Given the description of an element on the screen output the (x, y) to click on. 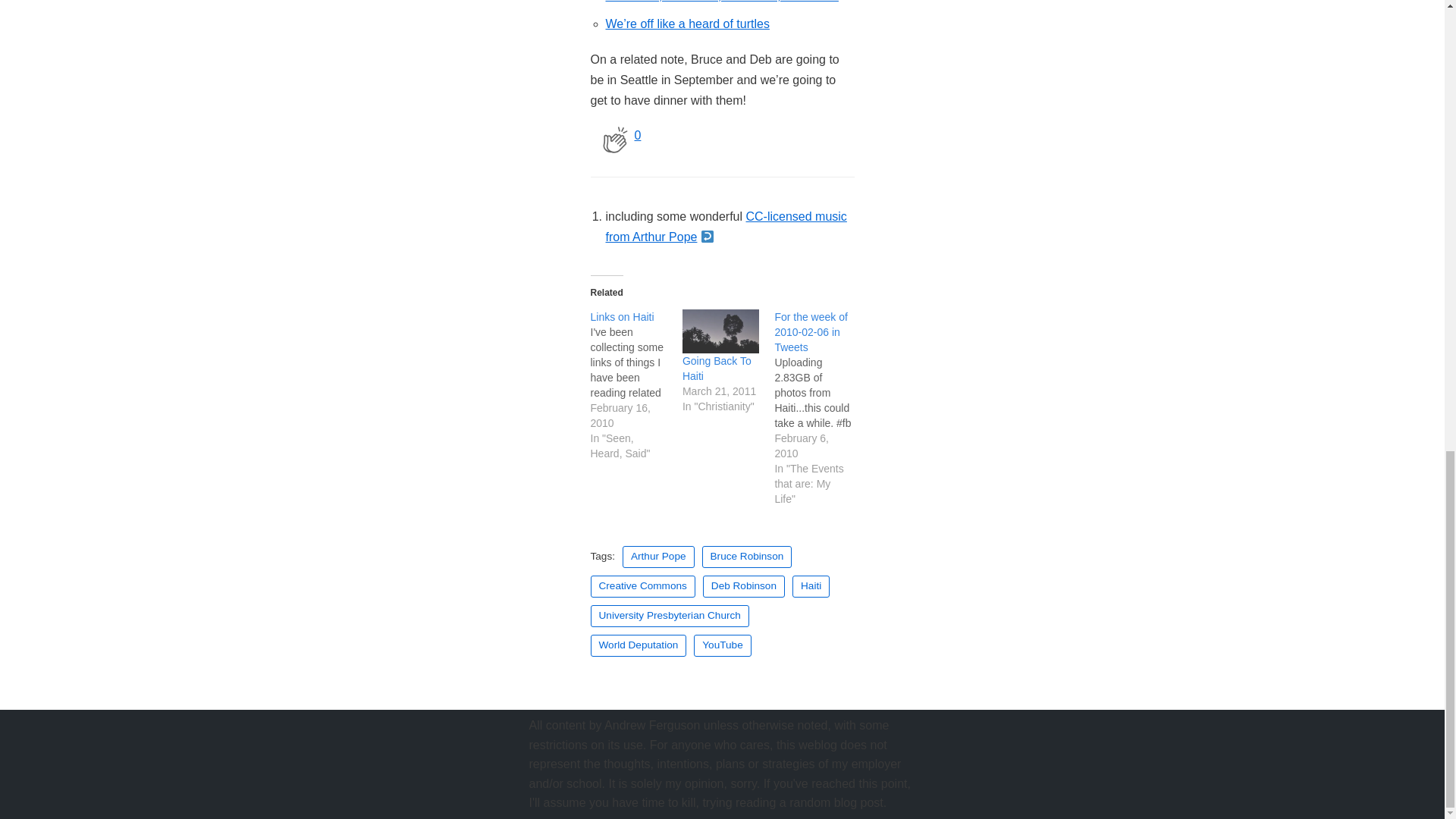
Going Back To Haiti (716, 368)
Return to footnote 1. (707, 236)
For the week of 2010-02-06 in Tweets (810, 331)
Arthur Pope (658, 557)
Going Back To Haiti (720, 330)
Bruce Robinson (746, 557)
Links on Haiti (621, 316)
